Given the description of an element on the screen output the (x, y) to click on. 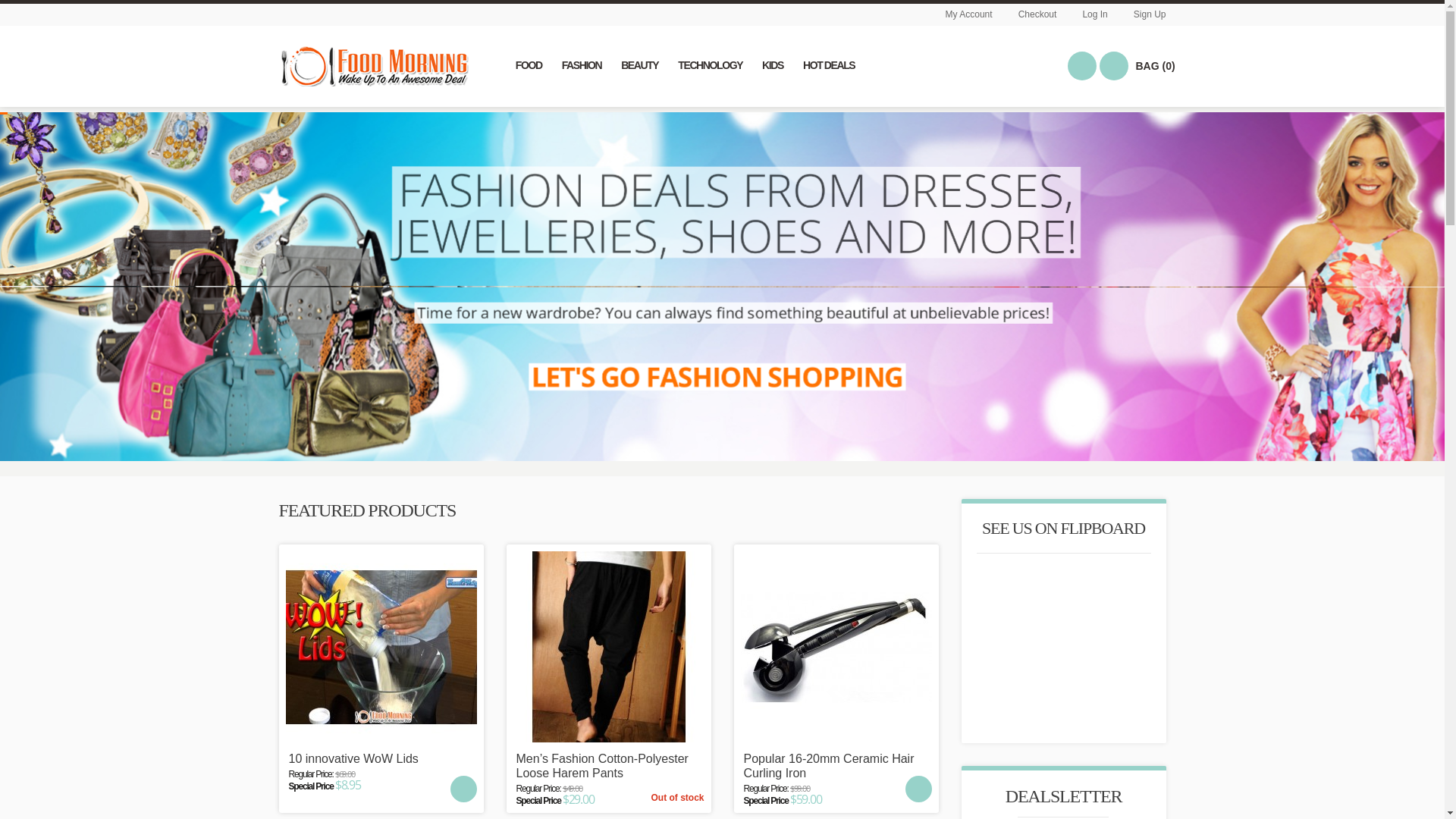
HOT DEALS Element type: text (828, 63)
10 innovative WoW Lids Element type: text (380, 758)
add to cart Element type: text (918, 788)
LET'S GO FASHION SHOPPING Element type: text (717, 375)
Popular 16-20mm Ceramic Hair Curling Iron Element type: text (835, 765)
add to cart Element type: text (463, 788)
TECHNOLOGY Element type: text (709, 63)
Sign Up Element type: text (1149, 14)
My Account Element type: text (968, 14)
Popular 16-20mm Ceramic Hair Curling Iron Element type: hover (835, 646)
FOOD Element type: text (528, 63)
BAG (0) Element type: text (1113, 65)
Checkout Element type: text (1037, 14)
KIDS Element type: text (772, 63)
FASHION Element type: text (581, 63)
BEAUTY Element type: text (639, 63)
Food Morning Element type: hover (373, 64)
Log In Element type: text (1094, 14)
Men's Fashion Cotton-Polyester Loose Harem Pants Element type: hover (607, 646)
10 innovative WoW Lids Element type: hover (380, 646)
